Given the description of an element on the screen output the (x, y) to click on. 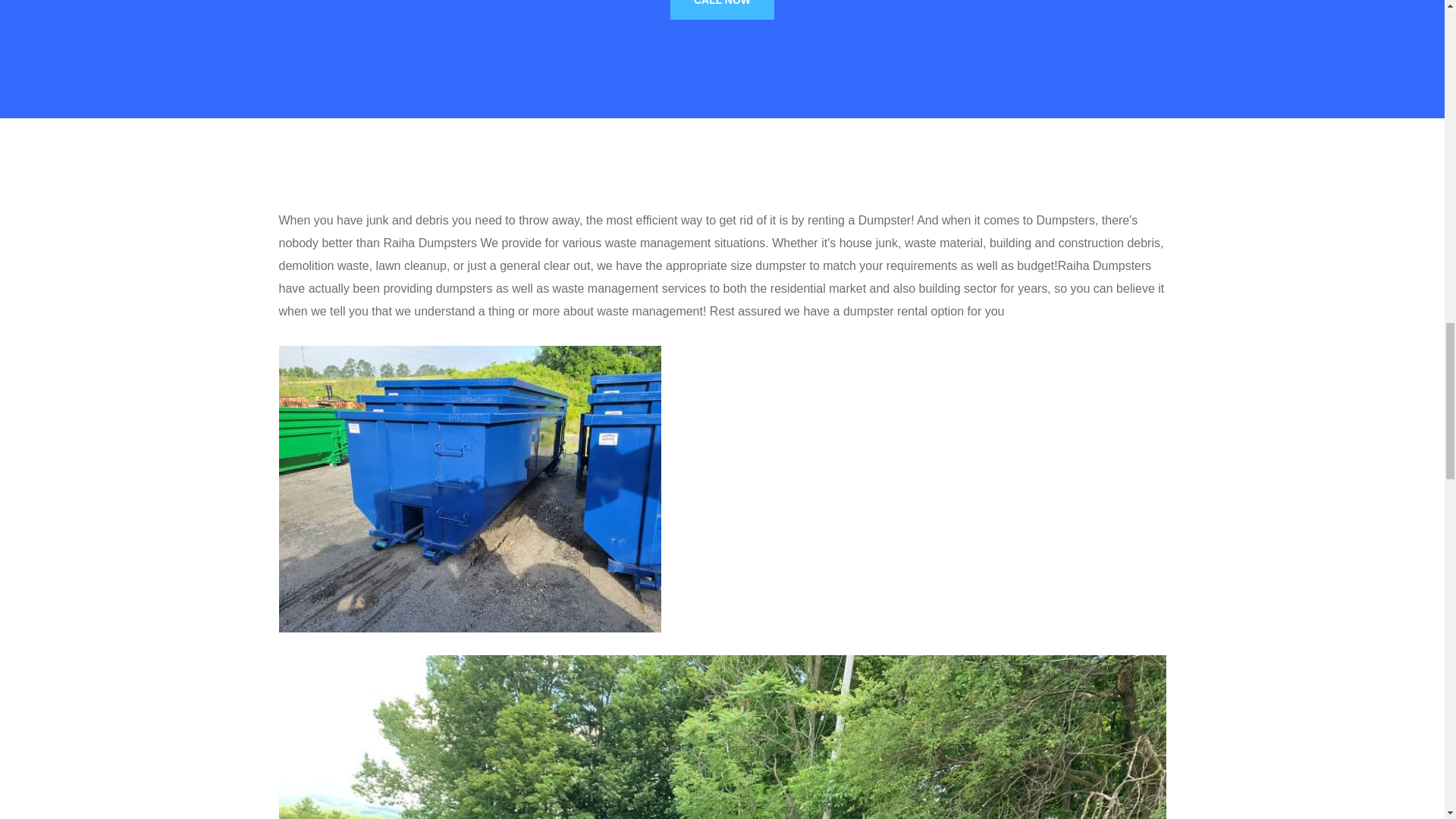
CALL NOW (721, 9)
